Given the description of an element on the screen output the (x, y) to click on. 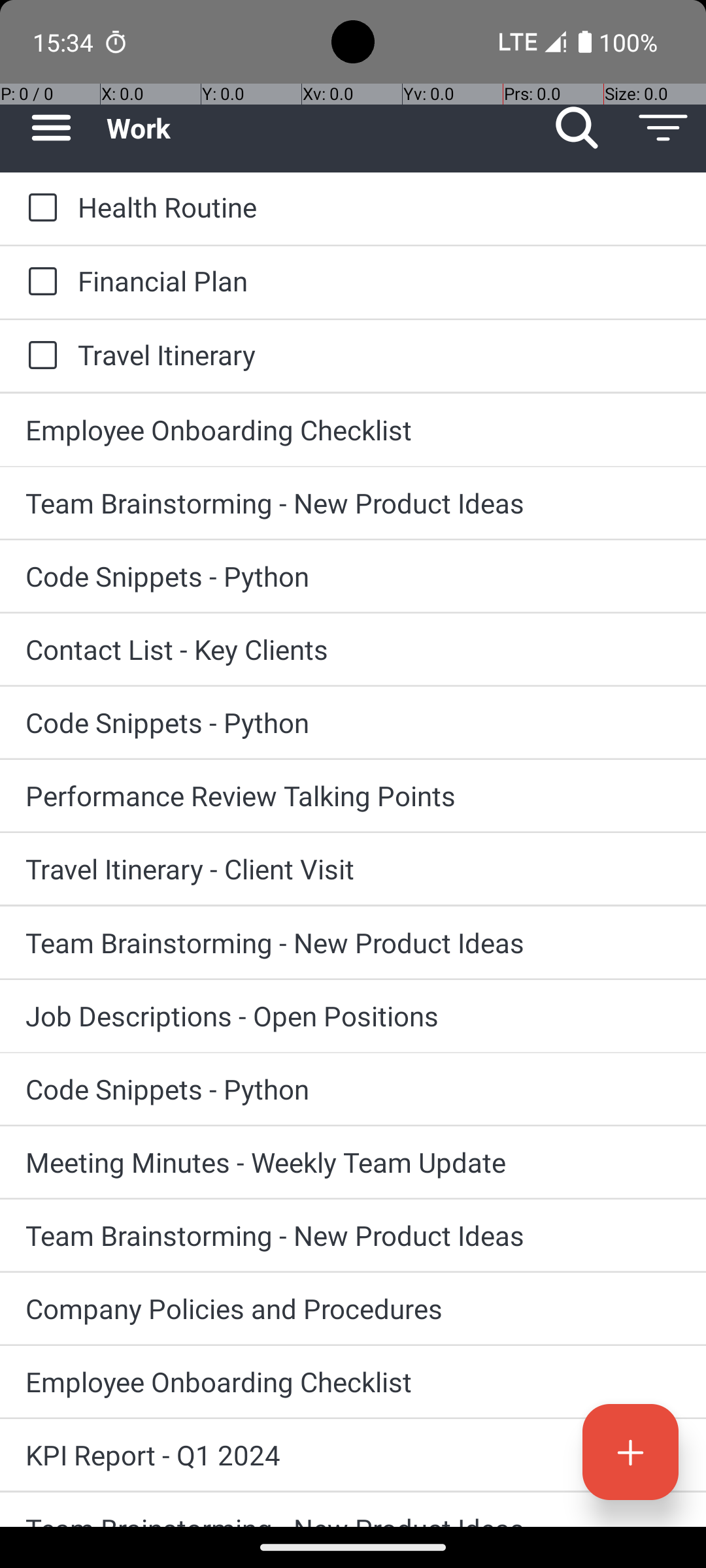
to-do: Health Routine Element type: android.widget.CheckBox (38, 208)
Health Routine Element type: android.widget.TextView (378, 206)
to-do: Financial Plan Element type: android.widget.CheckBox (38, 282)
Financial Plan Element type: android.widget.TextView (378, 280)
to-do: Travel Itinerary Element type: android.widget.CheckBox (38, 356)
Travel Itinerary Element type: android.widget.TextView (378, 354)
Employee Onboarding Checklist Element type: android.widget.TextView (352, 429)
Team Brainstorming - New Product Ideas Element type: android.widget.TextView (352, 502)
Contact List - Key Clients Element type: android.widget.TextView (352, 648)
Performance Review Talking Points Element type: android.widget.TextView (352, 795)
Travel Itinerary - Client Visit Element type: android.widget.TextView (352, 868)
Job Descriptions - Open Positions Element type: android.widget.TextView (352, 1015)
Meeting Minutes - Weekly Team Update Element type: android.widget.TextView (352, 1161)
Company Policies and Procedures Element type: android.widget.TextView (352, 1307)
KPI Report - Q1 2024 Element type: android.widget.TextView (352, 1454)
